Given the description of an element on the screen output the (x, y) to click on. 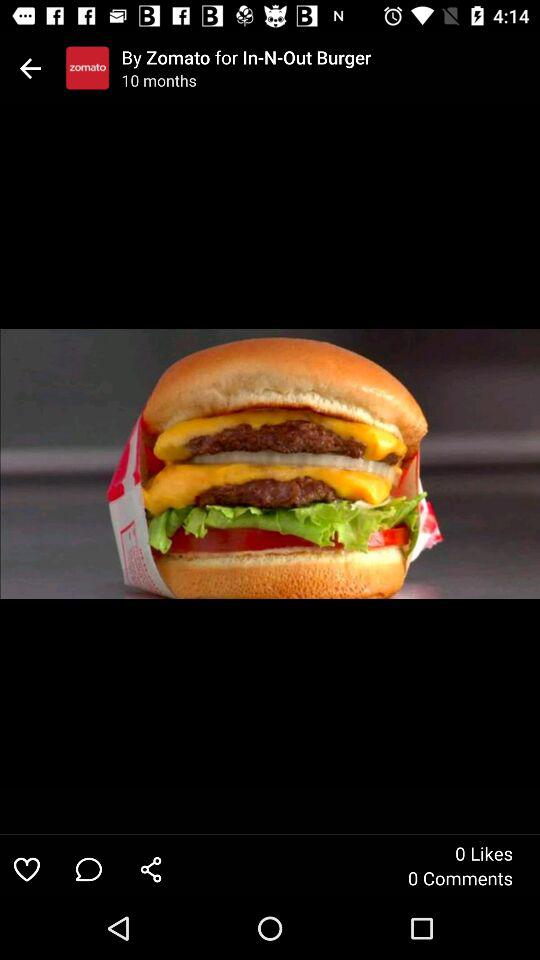
press icon to the left of 0 comments item (151, 868)
